Given the description of an element on the screen output the (x, y) to click on. 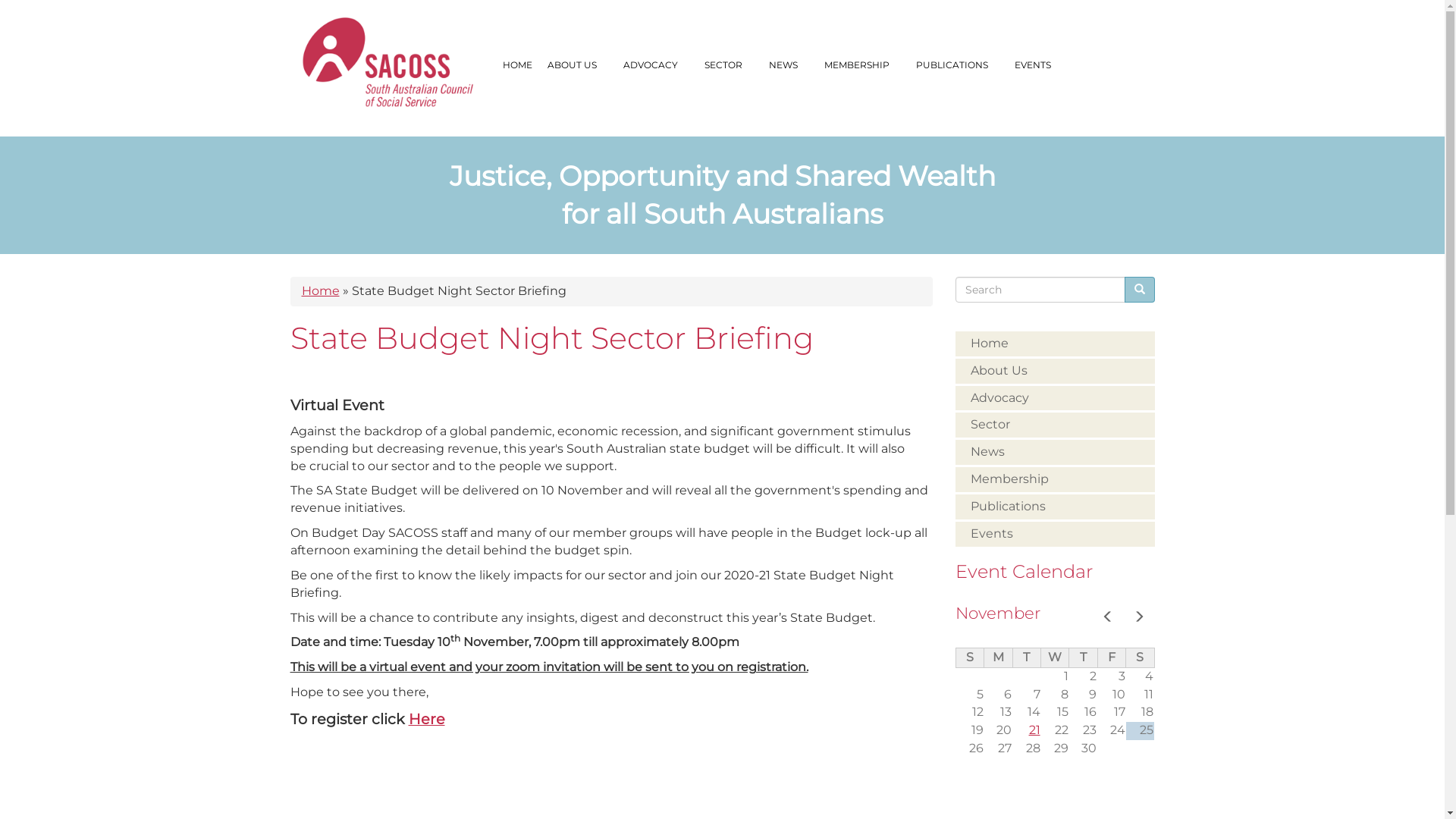
Next Element type: text (1138, 618)
Membership Element type: text (1054, 479)
Advocacy Element type: text (1054, 398)
About Us Element type: text (1054, 370)
Publications Element type: text (1054, 506)
Here Element type: text (425, 718)
Events Element type: text (1054, 533)
Home Element type: text (320, 290)
ADVOCACY Element type: text (655, 65)
ABOUT US Element type: text (577, 65)
Prev Element type: text (1107, 618)
Enter the terms you wish to search for. Element type: hover (1040, 289)
November Element type: text (997, 612)
Skip to main content Element type: text (0, 0)
HOME Element type: text (516, 65)
News Element type: text (1054, 451)
EVENTS Element type: text (1038, 65)
MEMBERSHIP Element type: text (861, 65)
Sector Element type: text (1054, 424)
NEWS Element type: text (788, 65)
PUBLICATIONS Element type: text (957, 65)
Home Element type: text (1054, 343)
Home Element type: hover (396, 73)
SECTOR Element type: text (728, 65)
21 Element type: text (1034, 729)
Search Element type: text (965, 307)
